Given the description of an element on the screen output the (x, y) to click on. 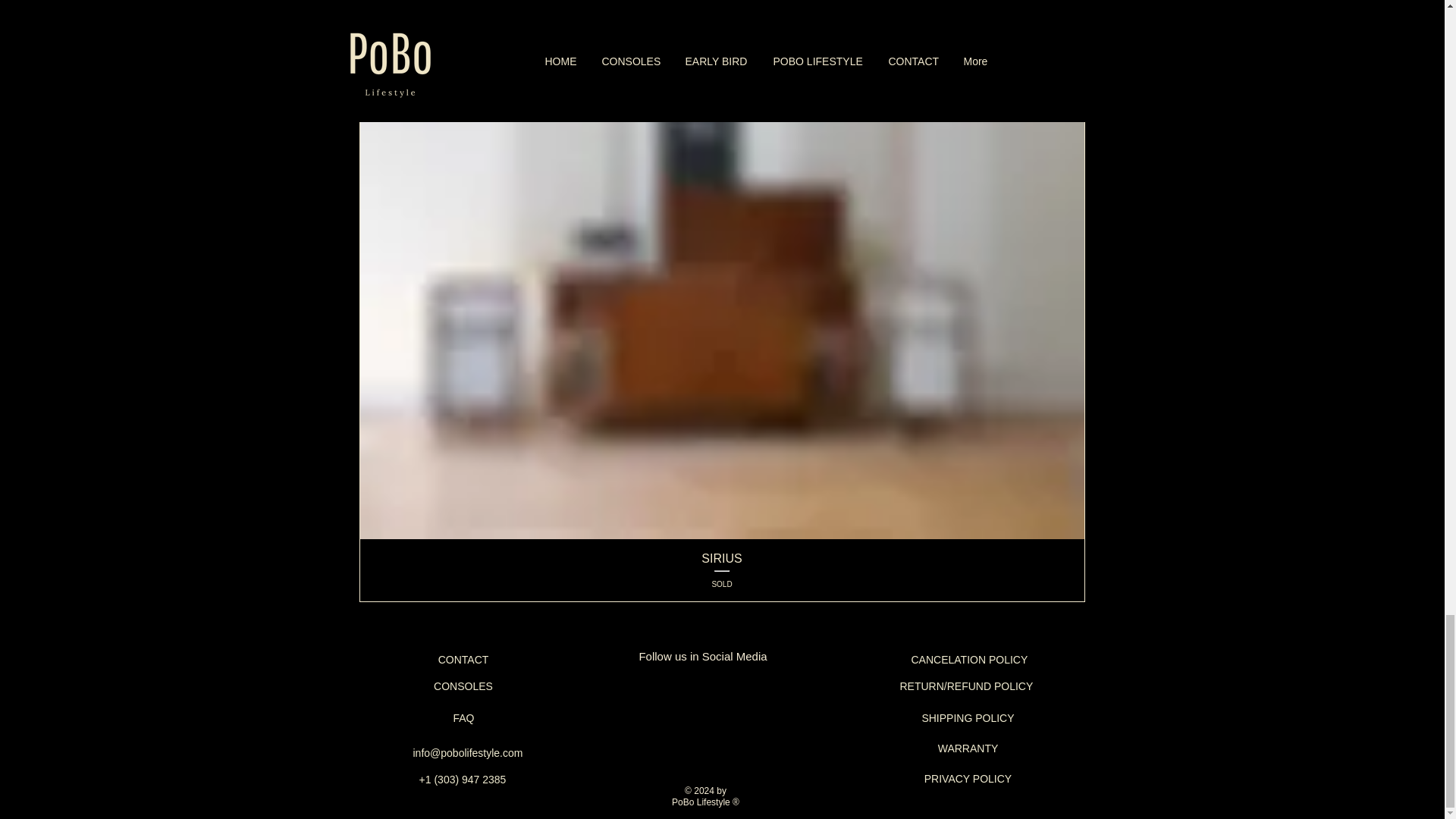
FAQ (462, 718)
CONTACT (462, 660)
CONSOLES (462, 686)
